Given the description of an element on the screen output the (x, y) to click on. 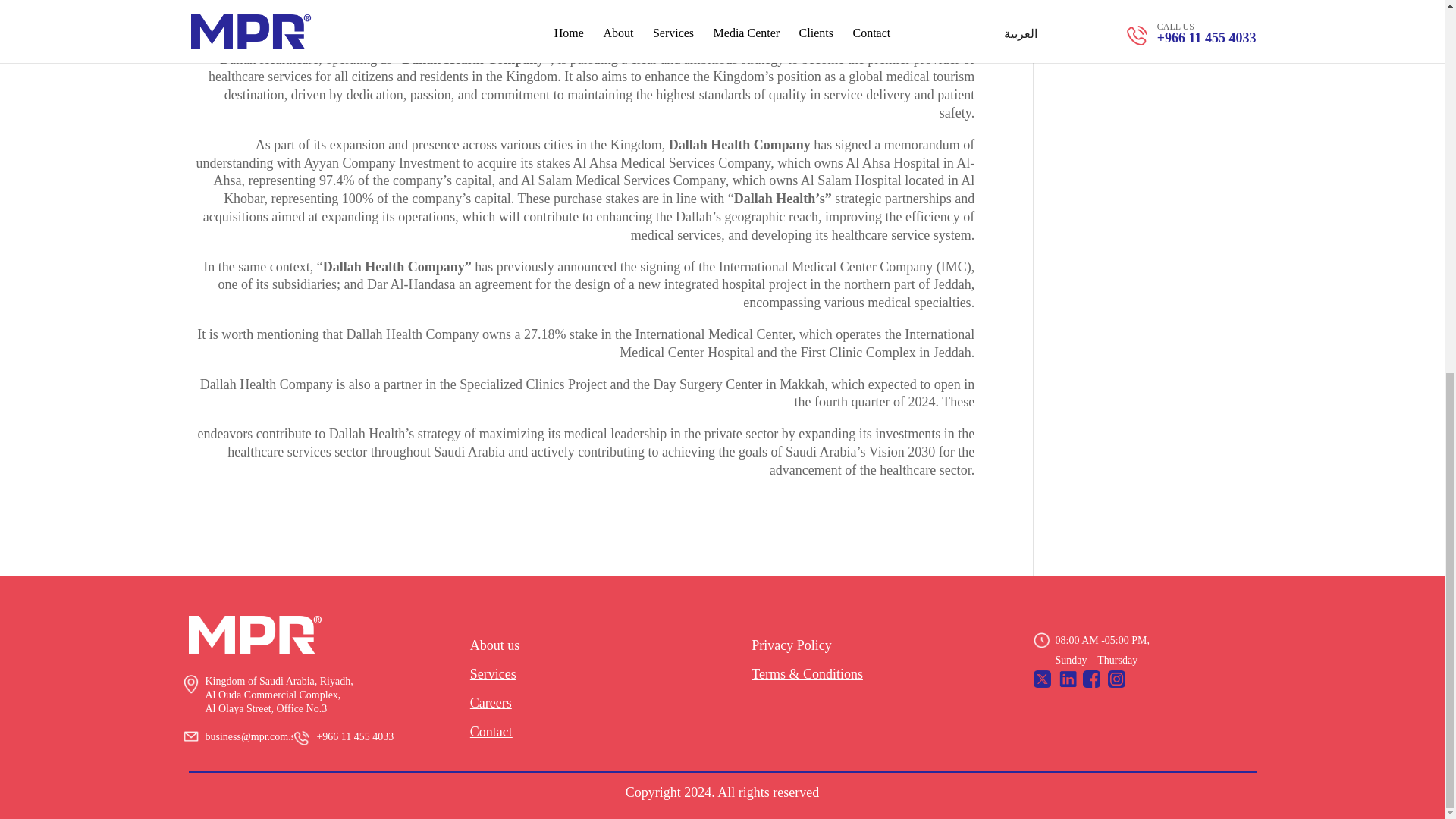
Services (493, 673)
MPR-Logowhite (254, 634)
Careers (491, 702)
Privacy Policy (791, 645)
About us (494, 645)
Contact (491, 731)
